Given the description of an element on the screen output the (x, y) to click on. 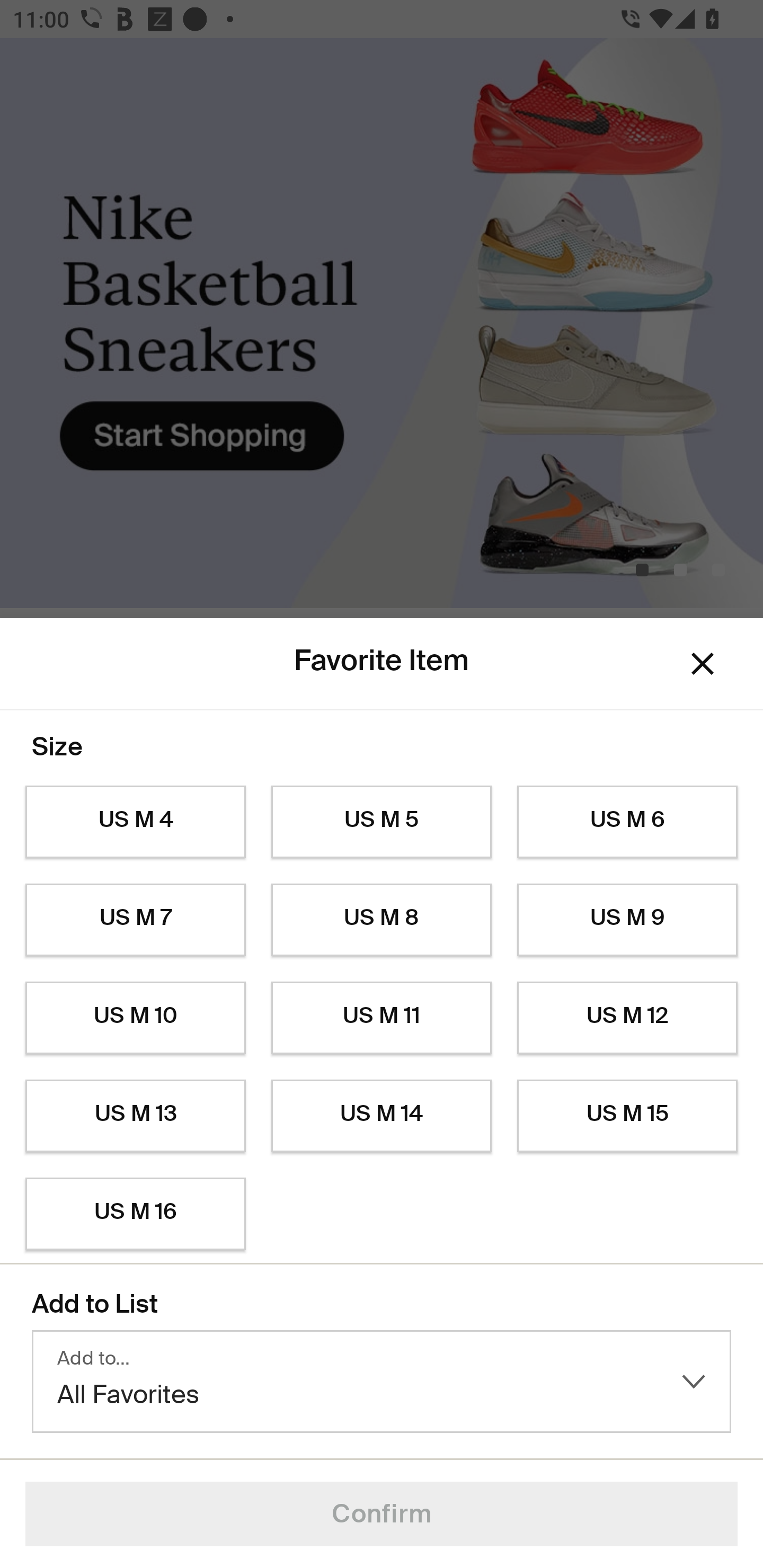
Dismiss (702, 663)
US M 4 (135, 822)
US M 5 (381, 822)
US M 6 (627, 822)
US M 7 (135, 919)
US M 8 (381, 919)
US M 9 (627, 919)
US M 10 (135, 1018)
US M 11 (381, 1018)
US M 12 (627, 1018)
US M 13 (135, 1116)
US M 14 (381, 1116)
US M 15 (627, 1116)
US M 16 (135, 1214)
Add to… All Favorites (381, 1381)
Confirm (381, 1513)
